Given the description of an element on the screen output the (x, y) to click on. 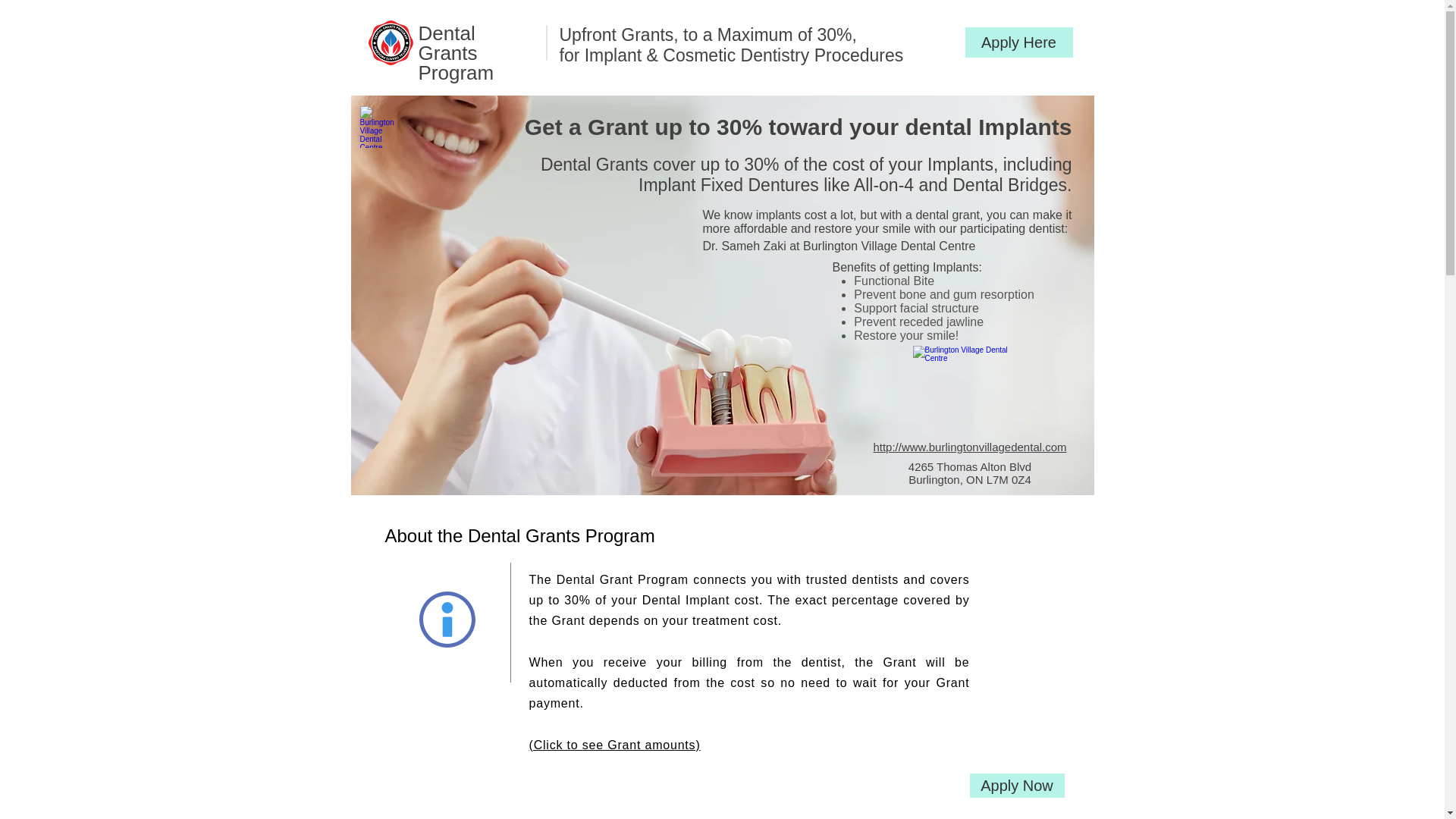
Apply Now (1016, 785)
Burlington Village Dental Centre (969, 402)
Dental Grants Progr (448, 53)
Burlington Village Dental Centre (380, 127)
Apply Here (1017, 42)
am (479, 72)
